Given the description of an element on the screen output the (x, y) to click on. 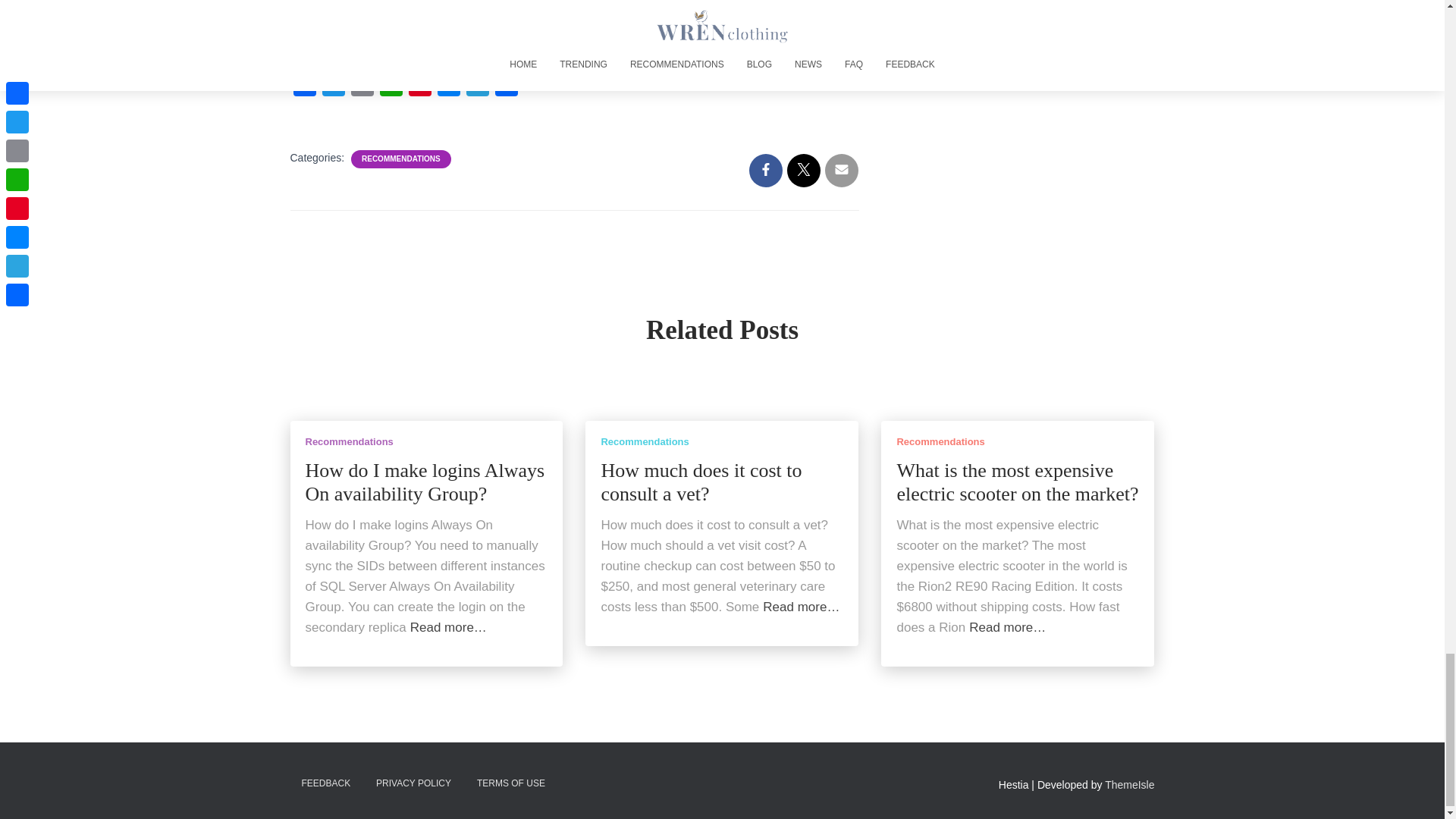
Pinterest (418, 88)
WhatsApp (389, 88)
Messenger (448, 88)
Facebook (303, 88)
How do I make logins Always On availability Group? (424, 482)
RECOMMENDATIONS (400, 158)
Recommendations (348, 441)
Twitter (332, 88)
Twitter (332, 88)
Pinterest (418, 88)
